Given the description of an element on the screen output the (x, y) to click on. 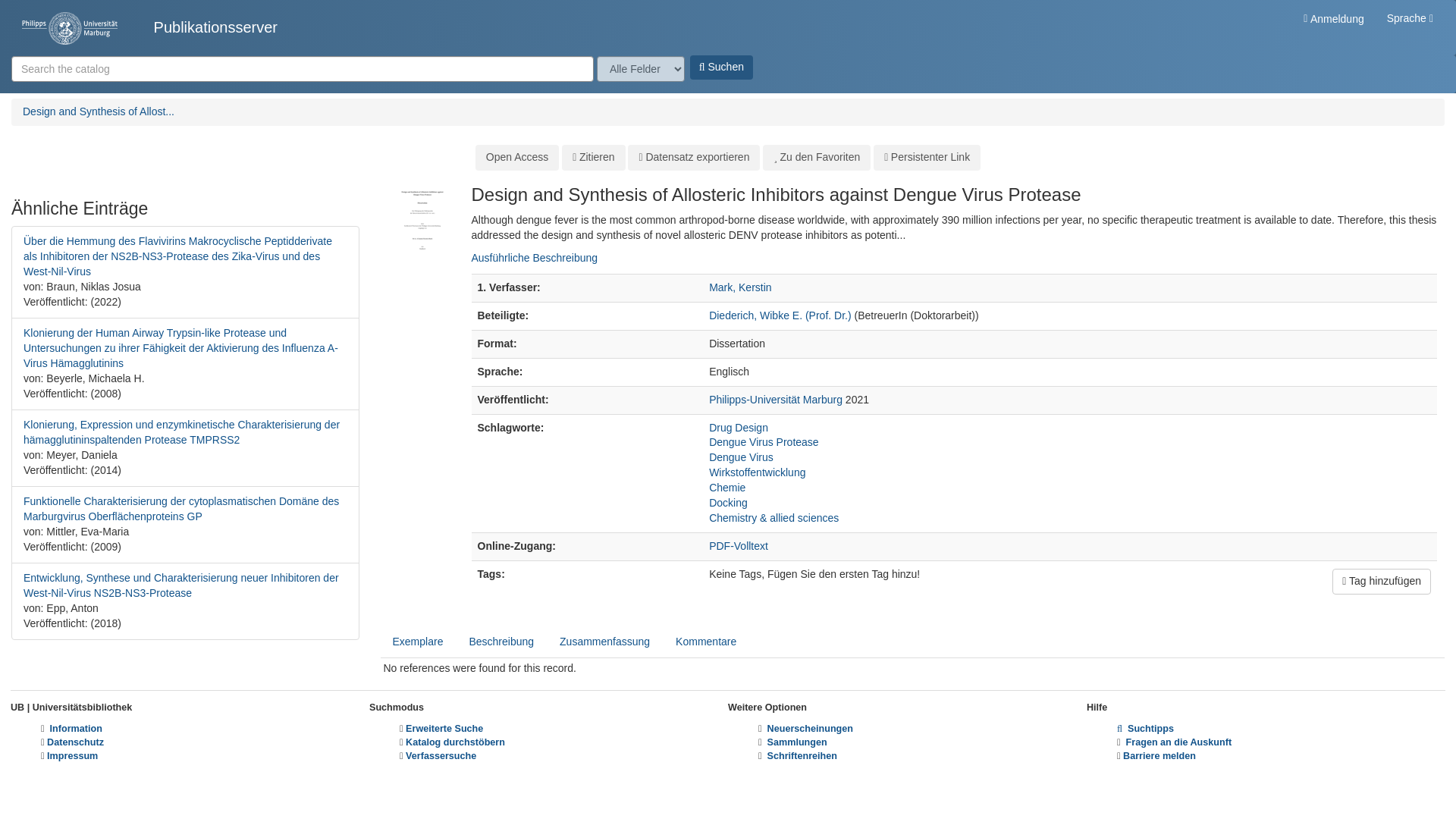
Publikationsserver (149, 27)
Anmeldung (1333, 18)
Dengue Virus Protease (763, 441)
Wirkstoffentwicklung (757, 472)
Drug Design (738, 427)
Dengue Virus (741, 457)
Chemie (727, 487)
Sprache (1409, 18)
Docking (728, 502)
Weiter zum Inhalt (41, 7)
